Given the description of an element on the screen output the (x, y) to click on. 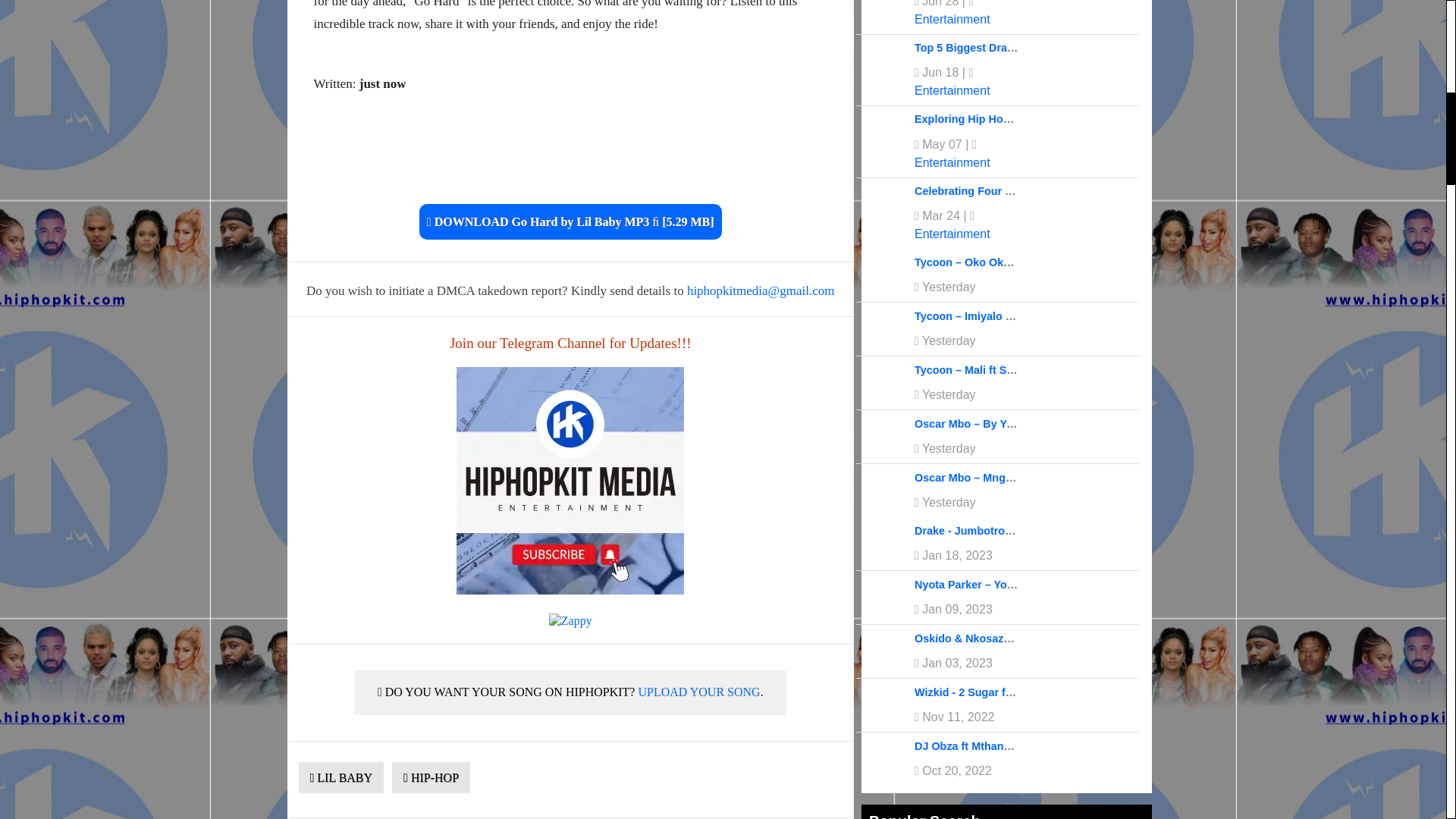
Entertainment (952, 162)
Top 5 Biggest Drake Bets: Wins and Losses (1027, 47)
UPLOAD YOUR SONG (698, 691)
Download Bran GixKid Album (570, 480)
Entertainment (952, 19)
Music Player (569, 162)
Join our Telegram Channel for Updates!!! (570, 342)
Entertainment (952, 90)
Entertainment (952, 233)
